Given the description of an element on the screen output the (x, y) to click on. 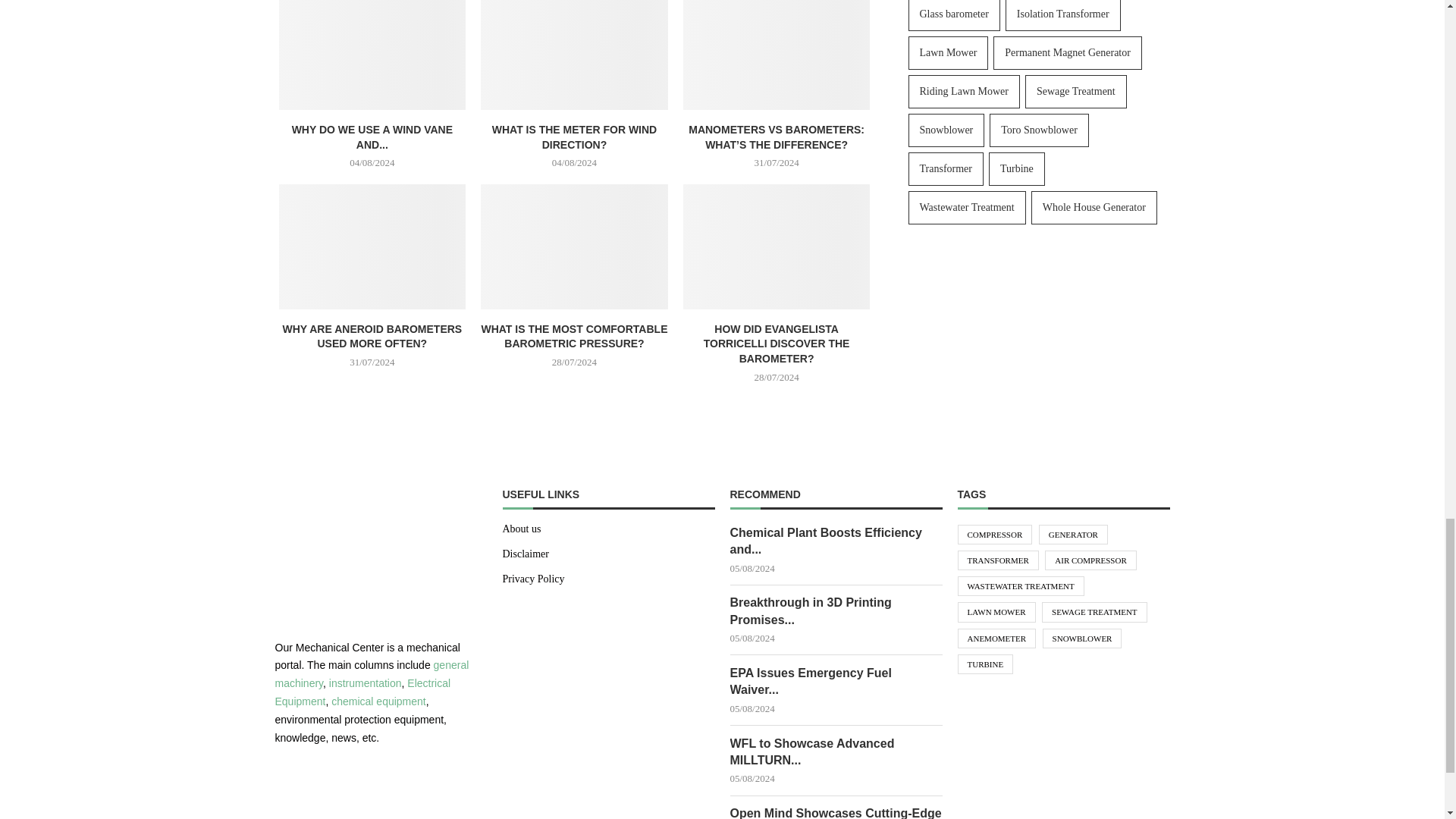
How did Evangelista Torricelli discover the barometer? (776, 246)
What Is The Most Comfortable Barometric Pressure? (574, 246)
Why Are Aneroid Barometers Used More Often? (372, 246)
Why Do We Use A Wind Vane And Anemometer? (372, 54)
What Is The Meter For Wind Direction? (574, 54)
